Given the description of an element on the screen output the (x, y) to click on. 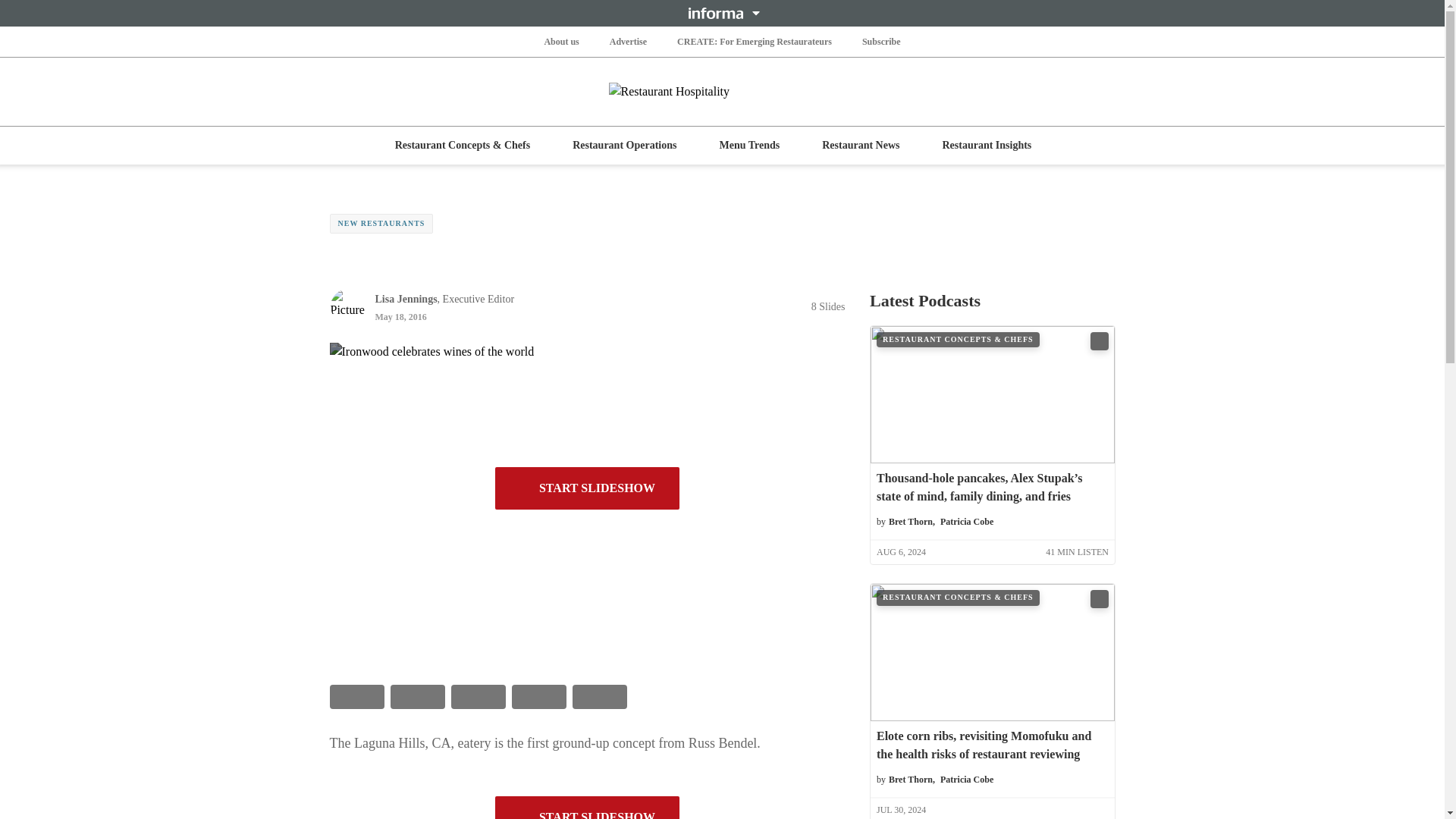
About us (560, 41)
Picture of Lisa Jennings (347, 306)
Subscribe (881, 41)
CREATE: For Emerging Restaurateurs (754, 41)
Restaurant Hospitality (721, 91)
Advertise (628, 41)
